Given the description of an element on the screen output the (x, y) to click on. 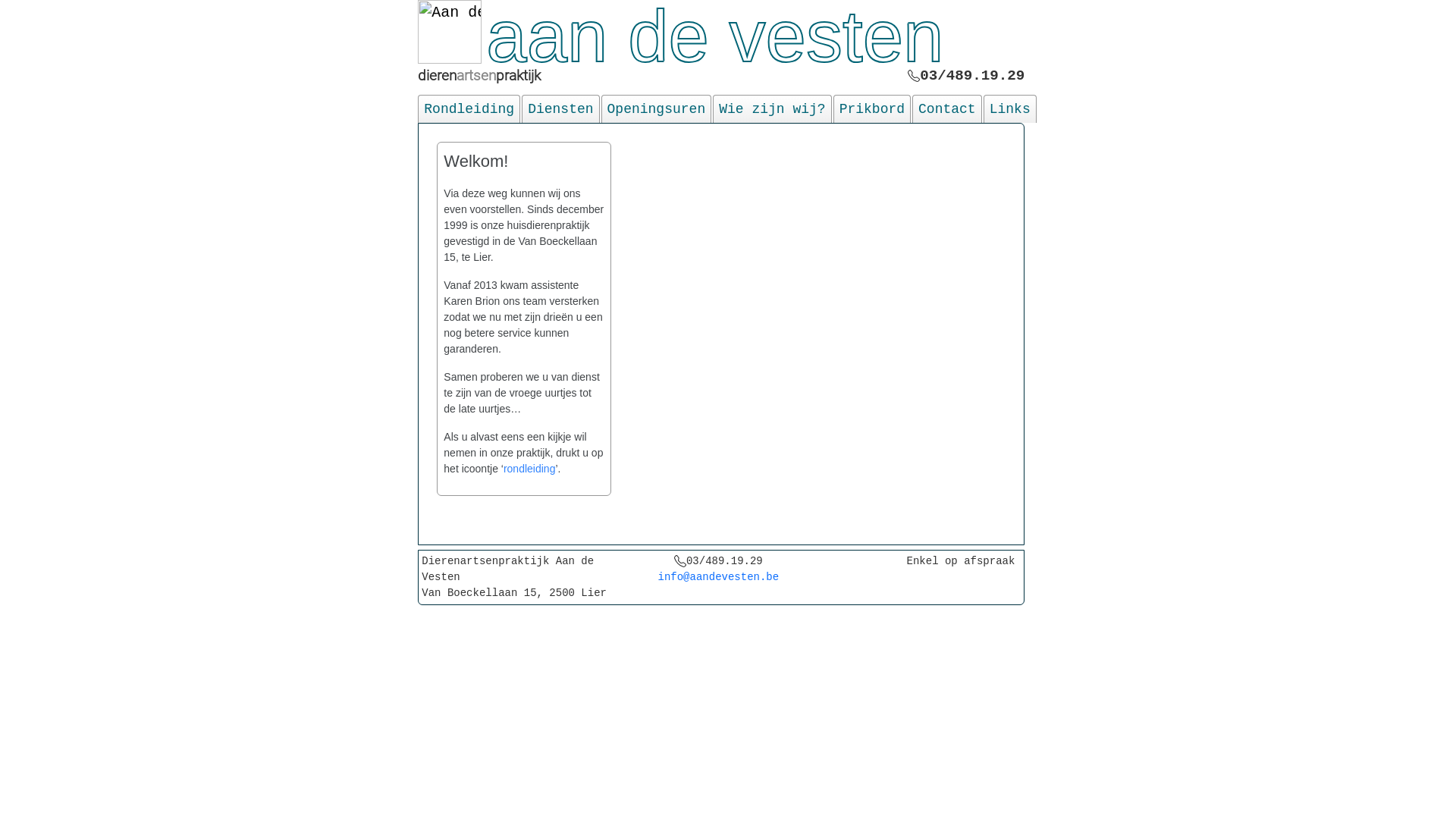
Wie zijn wij? Element type: text (771, 108)
Rondleiding Element type: text (468, 108)
Links Element type: text (1009, 108)
Diensten Element type: text (560, 108)
Openingsuren Element type: text (656, 108)
rondleiding Element type: text (529, 468)
info@aandevesten.be Element type: text (718, 577)
Prikbord Element type: text (871, 108)
Contact Element type: text (946, 108)
